Given the description of an element on the screen output the (x, y) to click on. 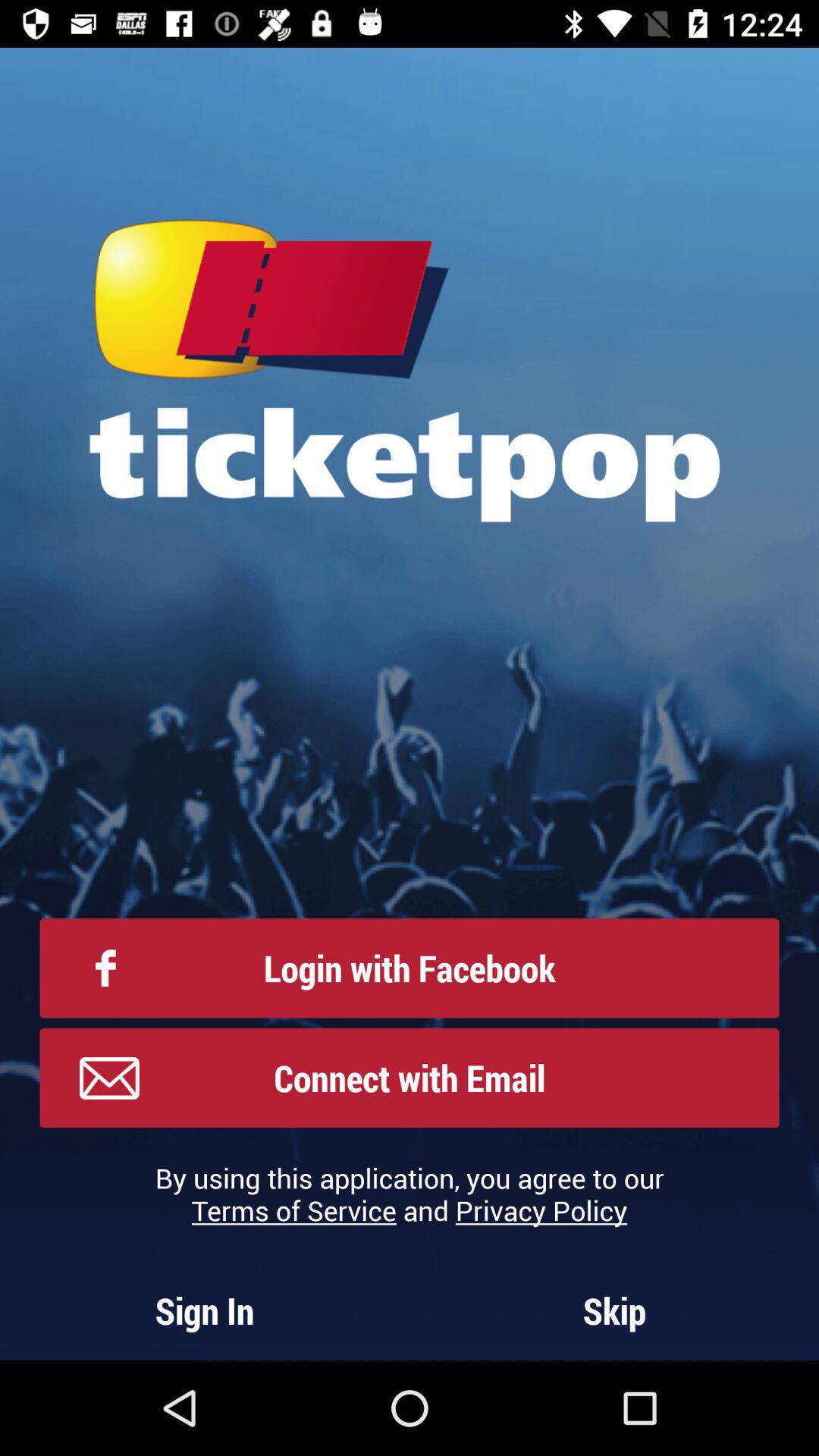
turn off item to the right of the sign in item (614, 1310)
